Given the description of an element on the screen output the (x, y) to click on. 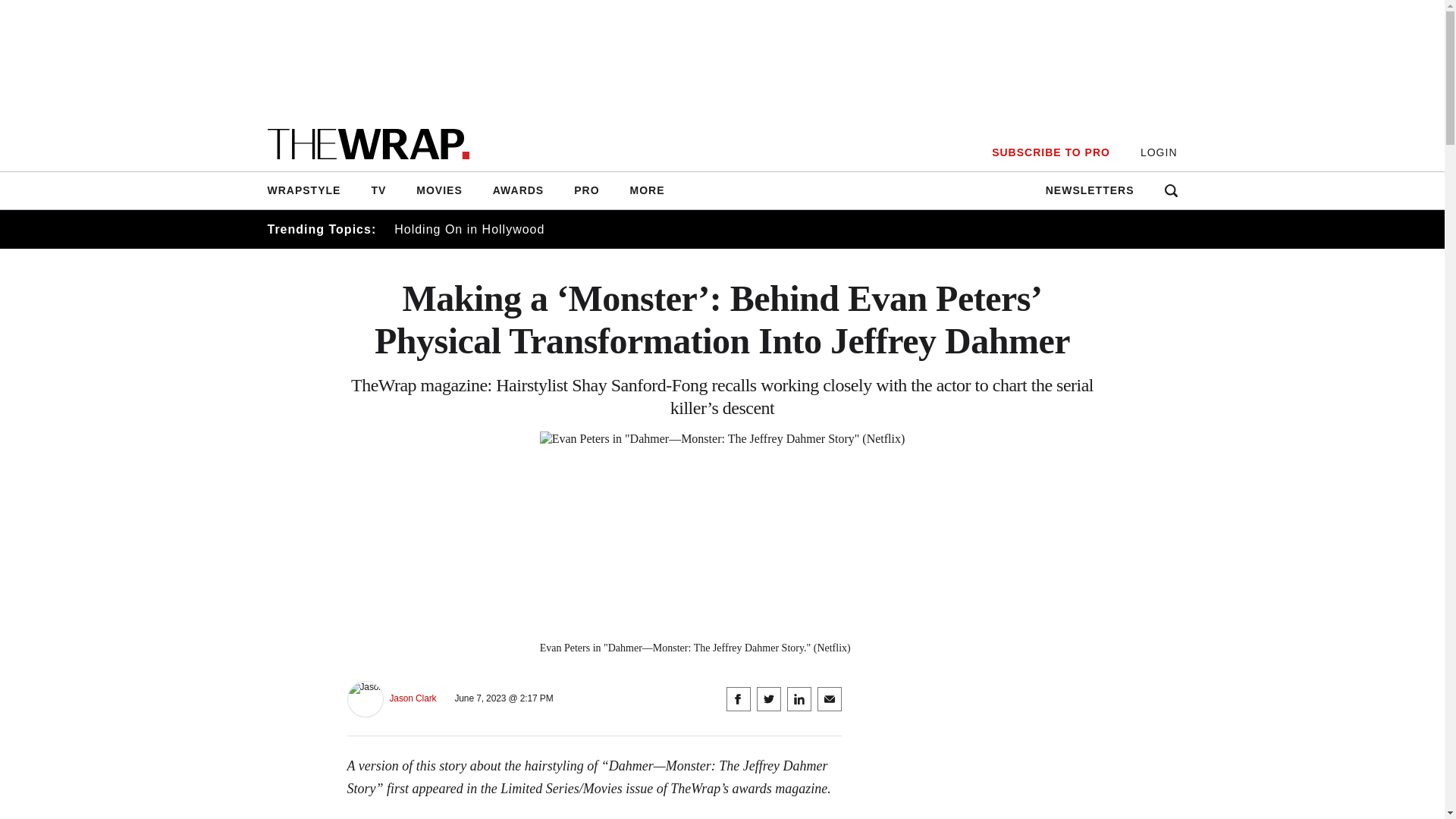
MORE (646, 190)
Posts by Jason Clark (413, 698)
TV (378, 190)
SUBSCRIBE TO PRO (1050, 152)
MOVIES (439, 190)
WRAPSTYLE (310, 190)
PRO (586, 190)
LOGIN (1158, 152)
AWARDS (518, 190)
